Given the description of an element on the screen output the (x, y) to click on. 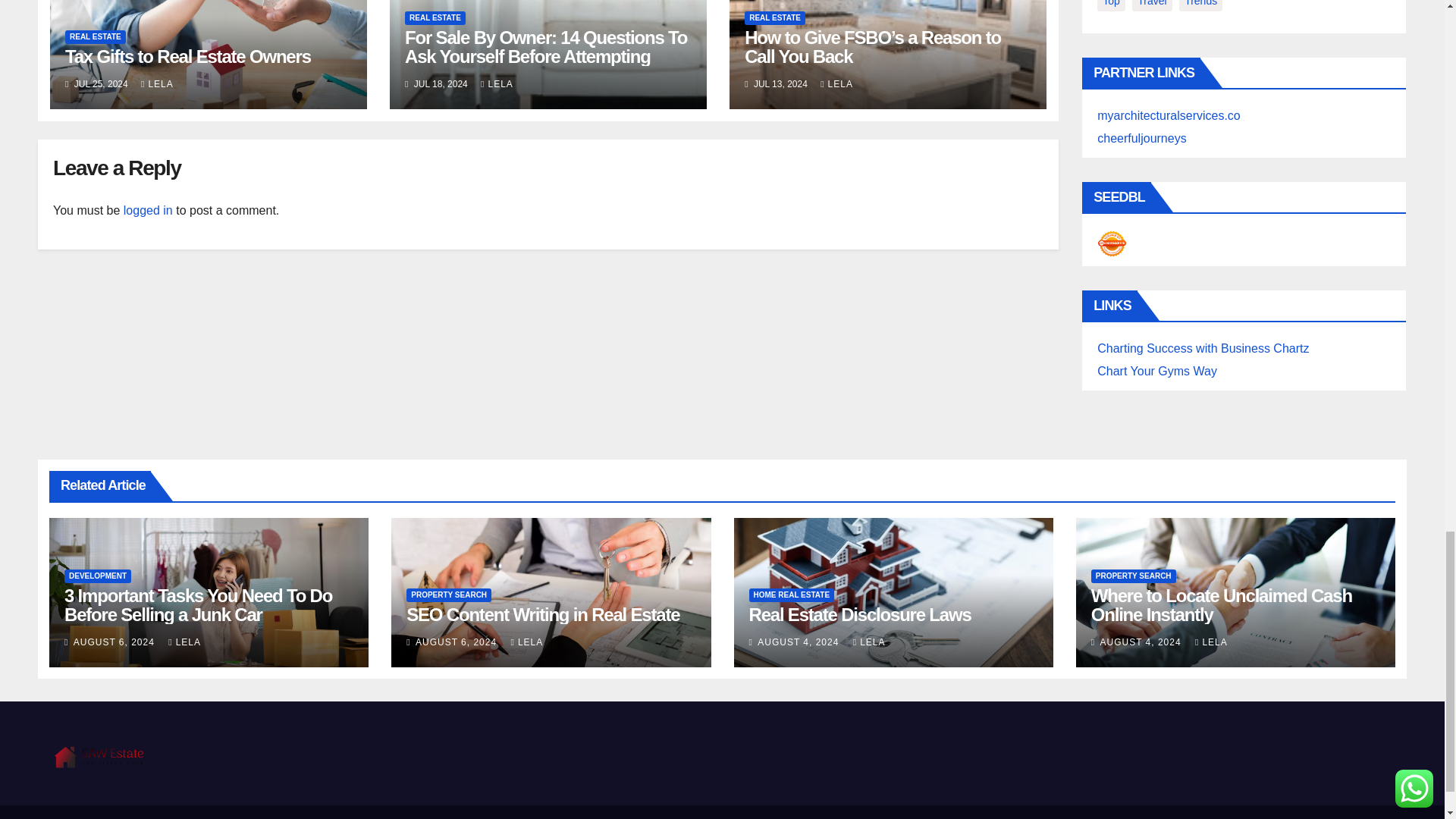
Permalink to: Tax Gifts to Real Estate Owners (188, 55)
Tax Gifts to Real Estate Owners (188, 55)
REAL ESTATE (95, 37)
